Given the description of an element on the screen output the (x, y) to click on. 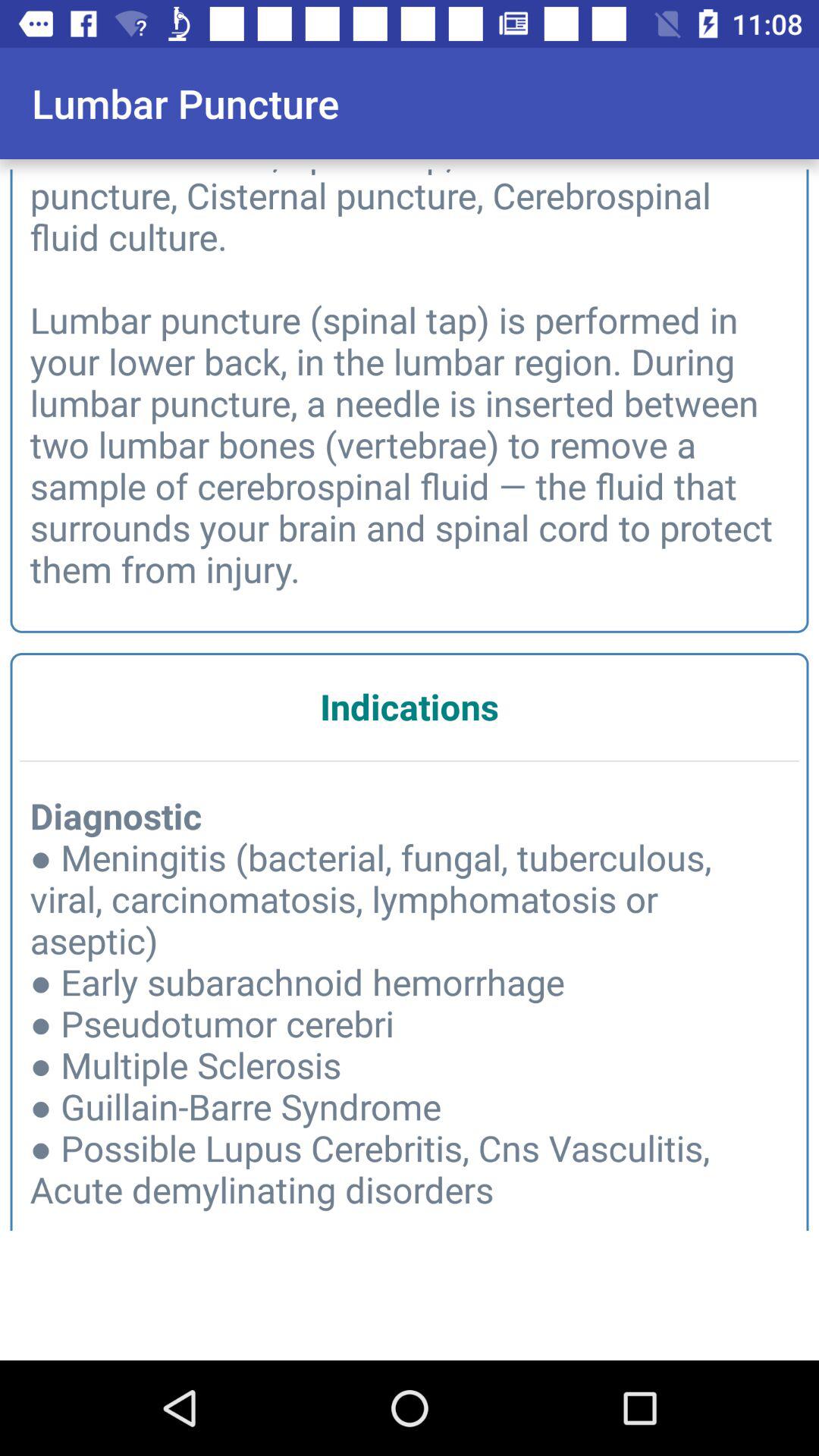
choose diagnostic meningitis bacterial (409, 1016)
